Given the description of an element on the screen output the (x, y) to click on. 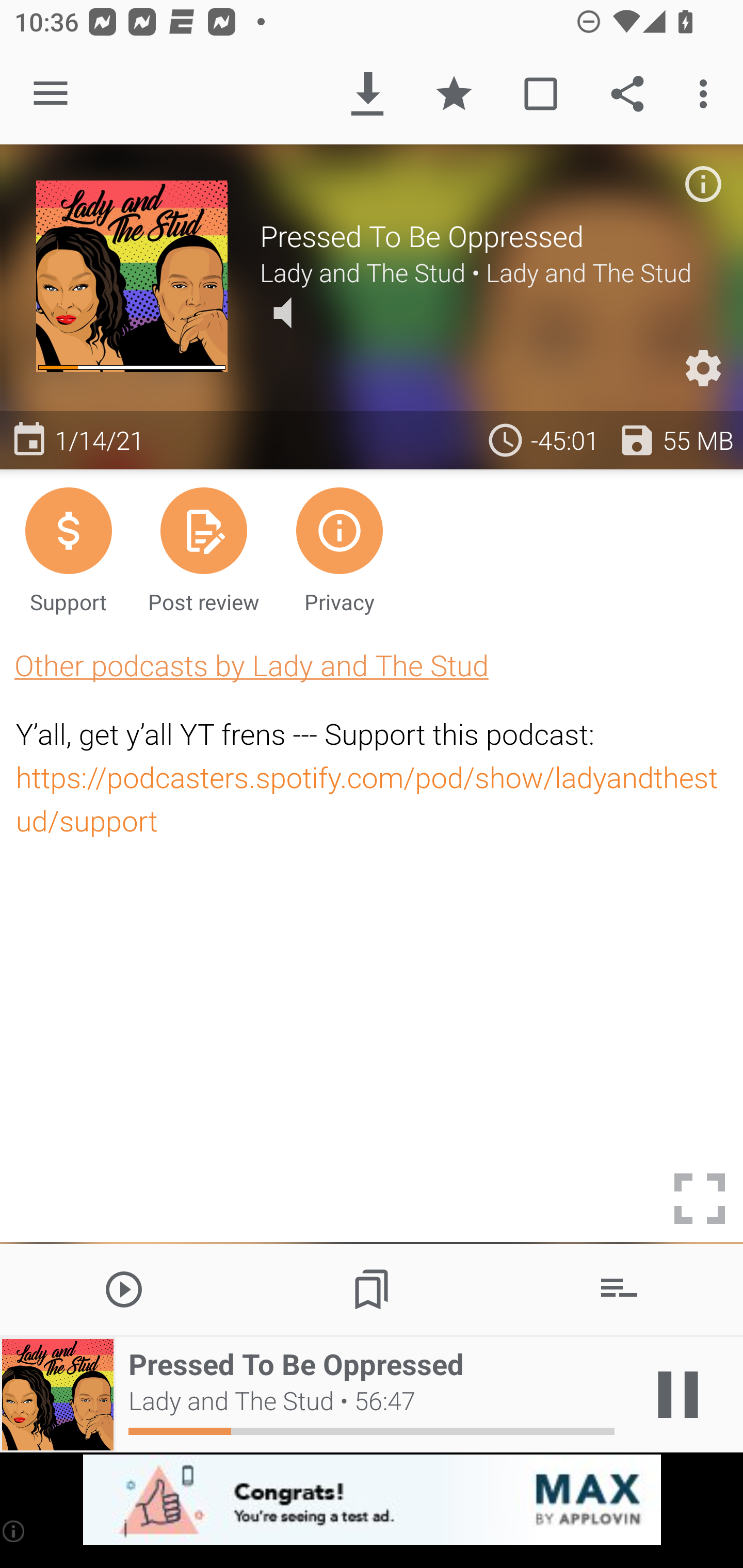
Open navigation sidebar (50, 93)
Download (366, 93)
UnFavorite (453, 93)
Mark played / unplayed (540, 93)
Share (626, 93)
More options (706, 93)
Podcast description (703, 184)
Pressed To Be Oppressed (483, 235)
Custom Settings (703, 368)
Support (68, 549)
Post review (203, 549)
Privacy (339, 549)
Other podcasts by Lady and The Stud (251, 665)
Toggle full screen mode (699, 1198)
Play (123, 1288)
Chapters / Bookmarks (371, 1288)
Remove from Playlist (619, 1288)
Play / Pause (677, 1394)
app-monetization (371, 1500)
(i) (14, 1531)
